Given the description of an element on the screen output the (x, y) to click on. 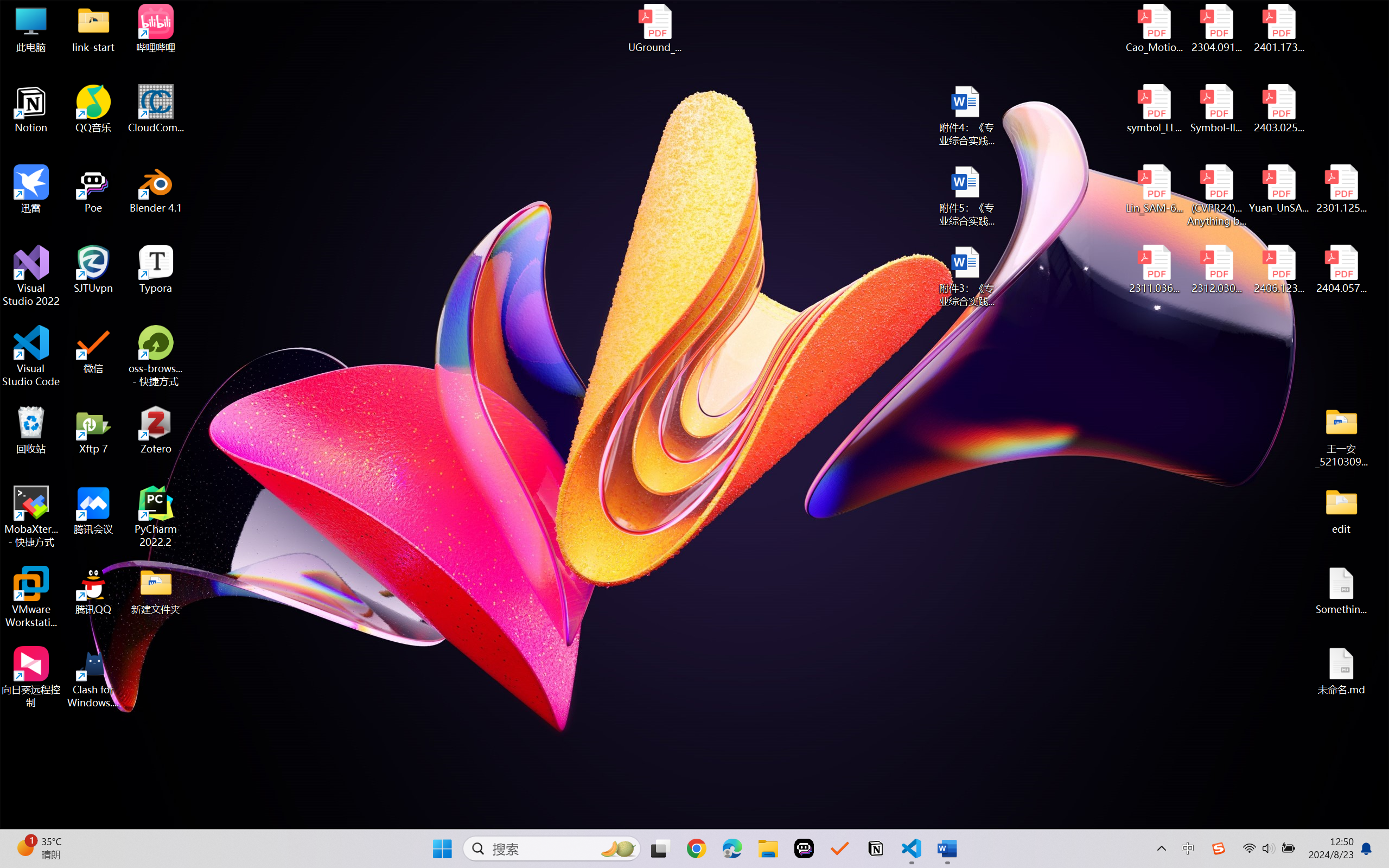
2304.09121v3.pdf (1216, 28)
Typora (156, 269)
2401.17399v1.pdf (1278, 28)
Visual Studio Code (31, 355)
Visual Studio 2022 (31, 276)
Microsoft Edge (731, 848)
